Given the description of an element on the screen output the (x, y) to click on. 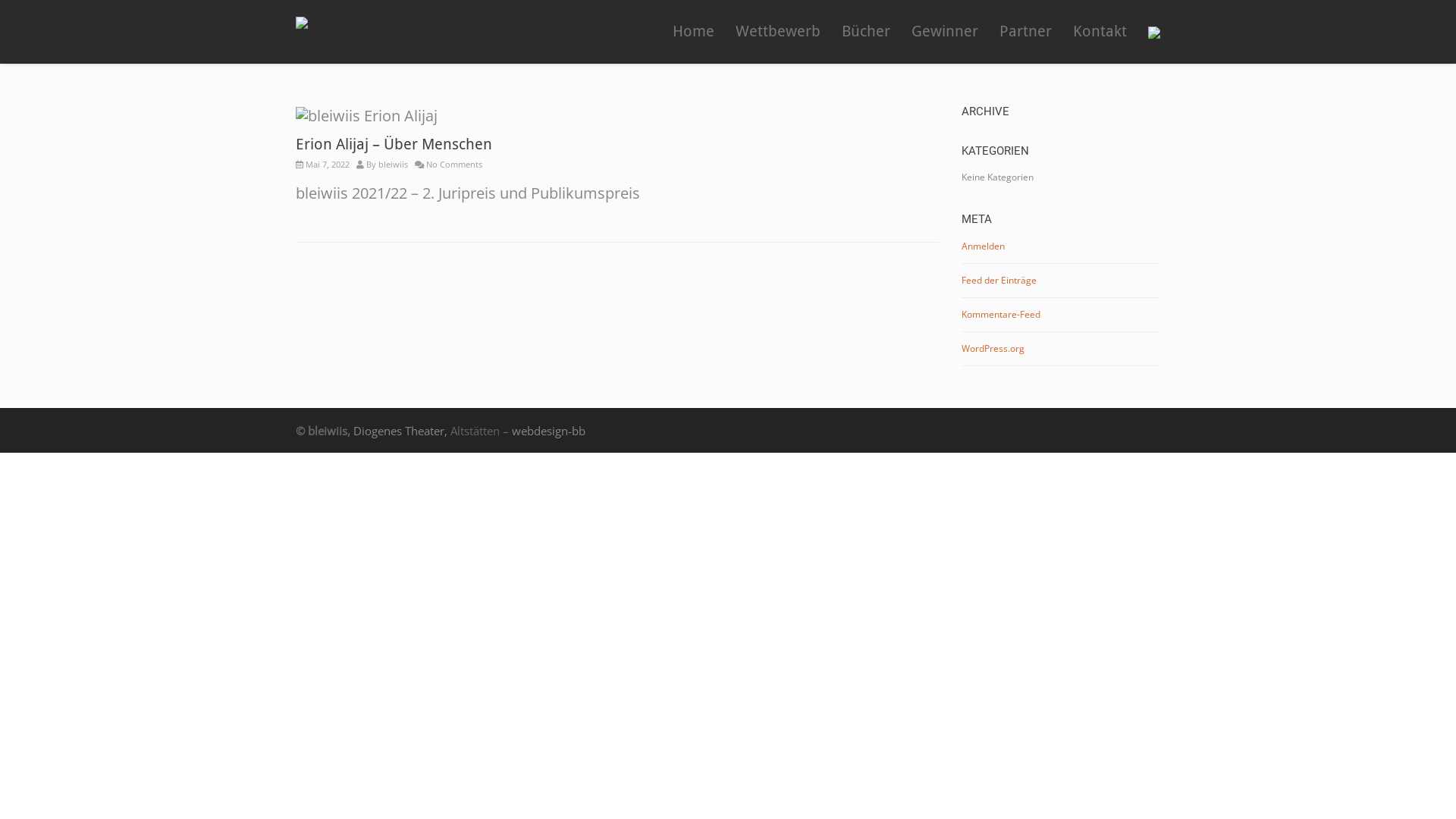
Erion Alijaj-1 2022-04-08_Diogenes_Bleiwiis-Lesenacht_41 Element type: hover (617, 97)
Anmelden Element type: text (982, 245)
webdesign-bb Element type: text (548, 430)
Kontakt Element type: text (1099, 31)
Wettbewerb Element type: text (777, 31)
Home Element type: text (693, 31)
bleiwiis Element type: text (392, 163)
WordPress.org Element type: text (992, 347)
Diogenes Theater, Element type: text (400, 430)
Kommentare-Feed Element type: text (1000, 313)
Partner Element type: text (1025, 31)
Gewinner Element type: text (944, 31)
